Given the description of an element on the screen output the (x, y) to click on. 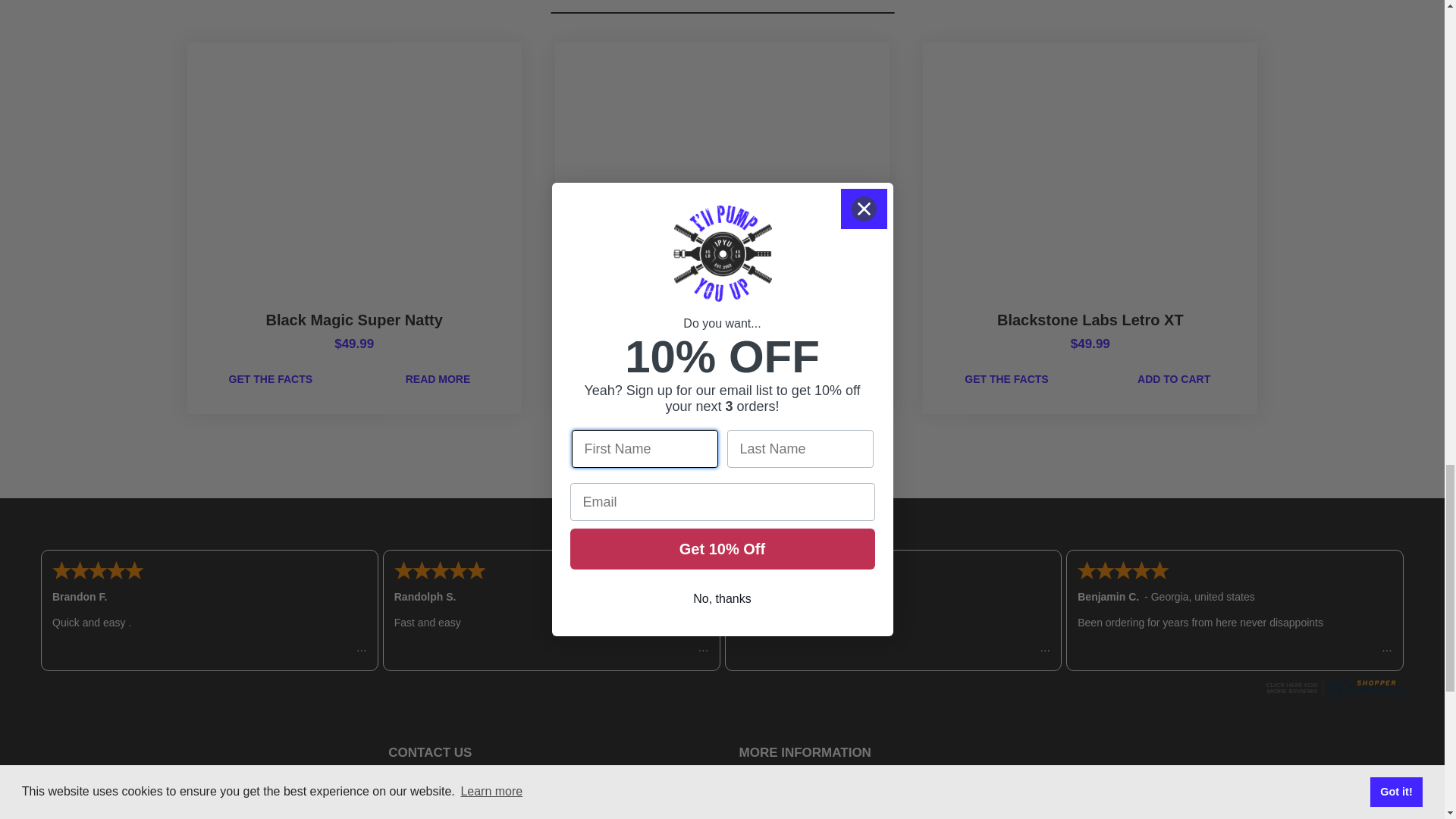
Reviews (1334, 694)
